Given the description of an element on the screen output the (x, y) to click on. 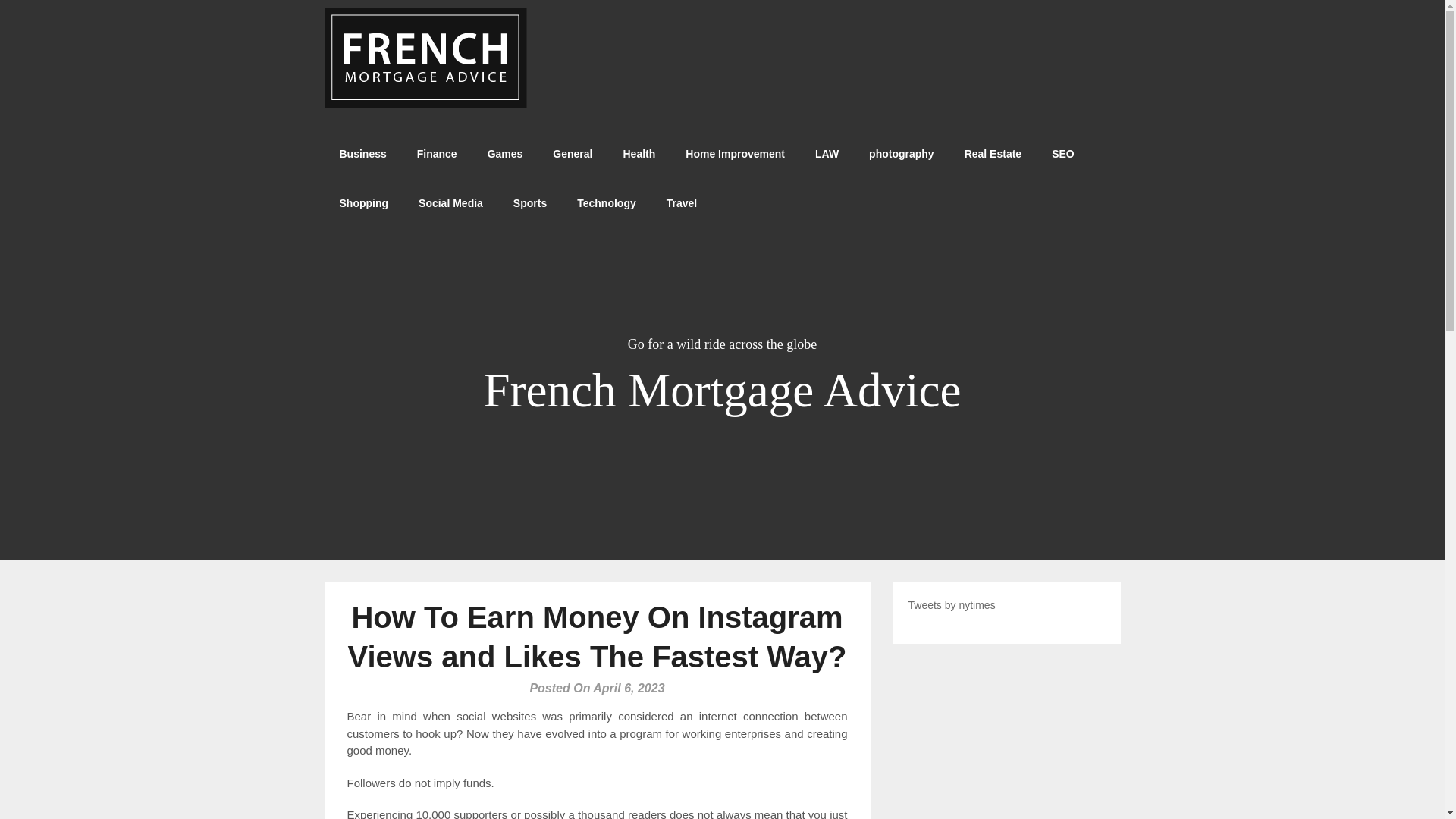
Business (362, 154)
Real Estate (992, 154)
Technology (606, 203)
Sports (529, 203)
Social Media (450, 203)
LAW (826, 154)
Tweets by nytimes (951, 604)
SEO (1062, 154)
photography (901, 154)
General (572, 154)
